Given the description of an element on the screen output the (x, y) to click on. 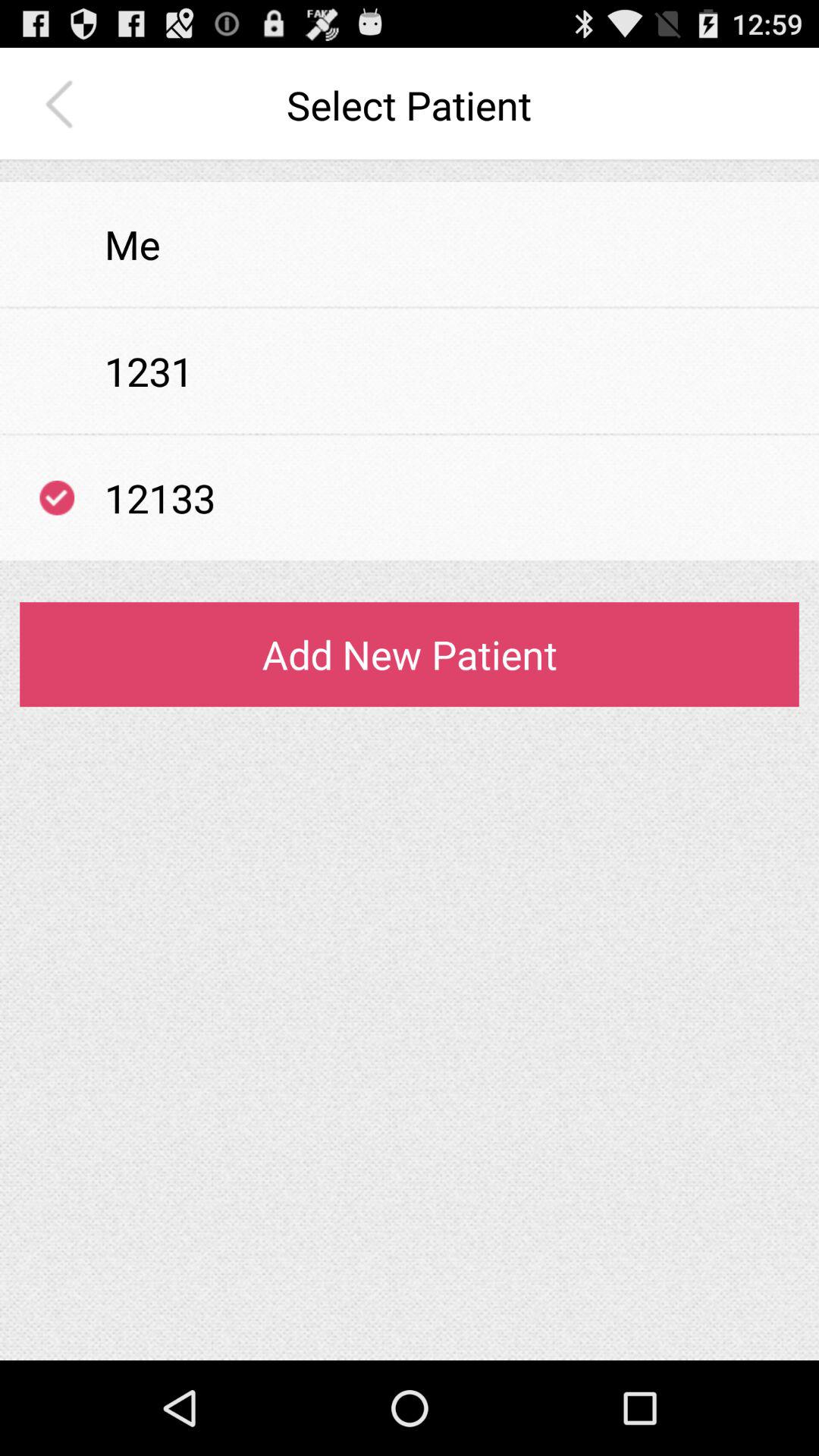
flip to me app (132, 243)
